Given the description of an element on the screen output the (x, y) to click on. 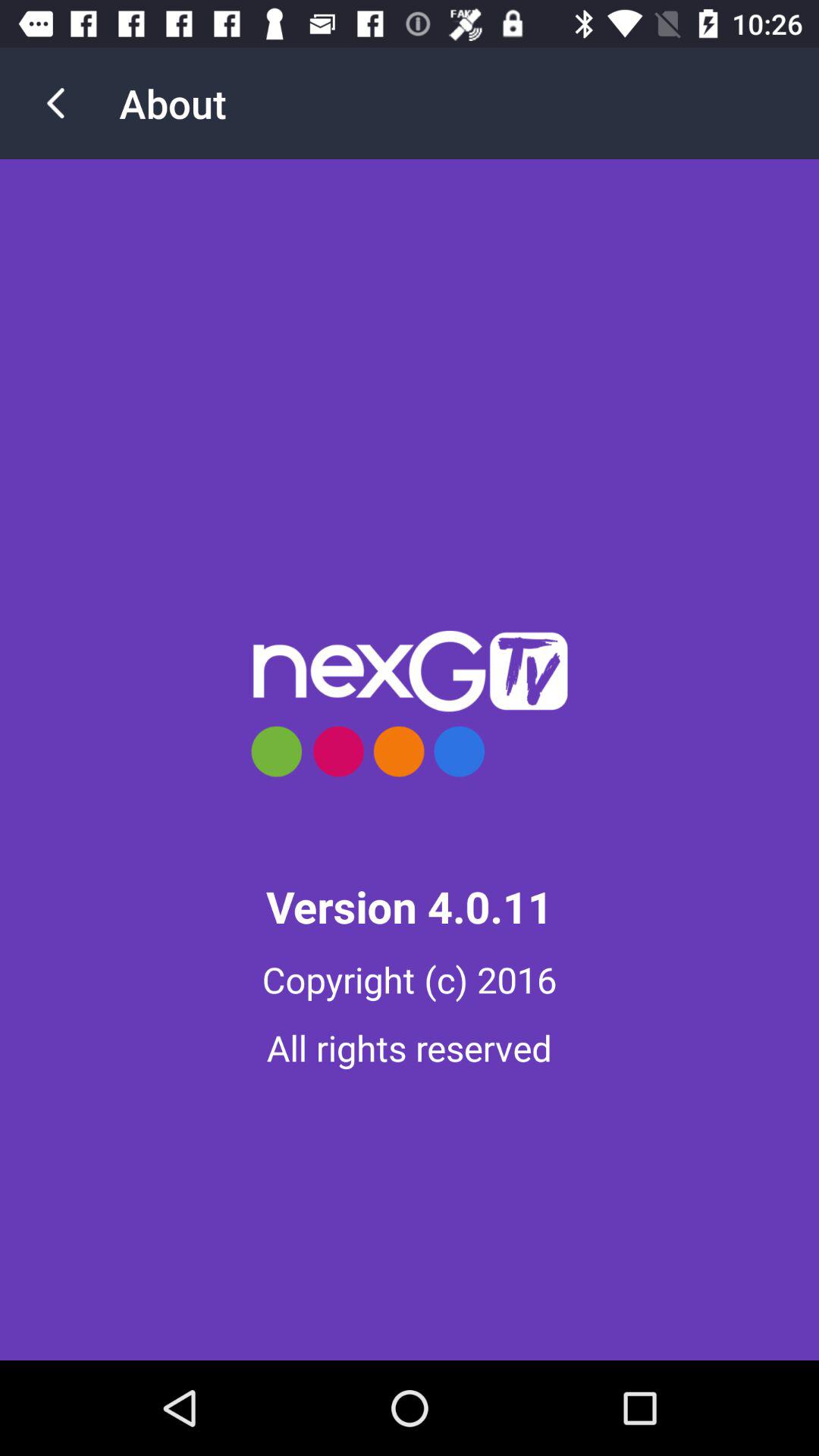
go back (55, 103)
